Given the description of an element on the screen output the (x, y) to click on. 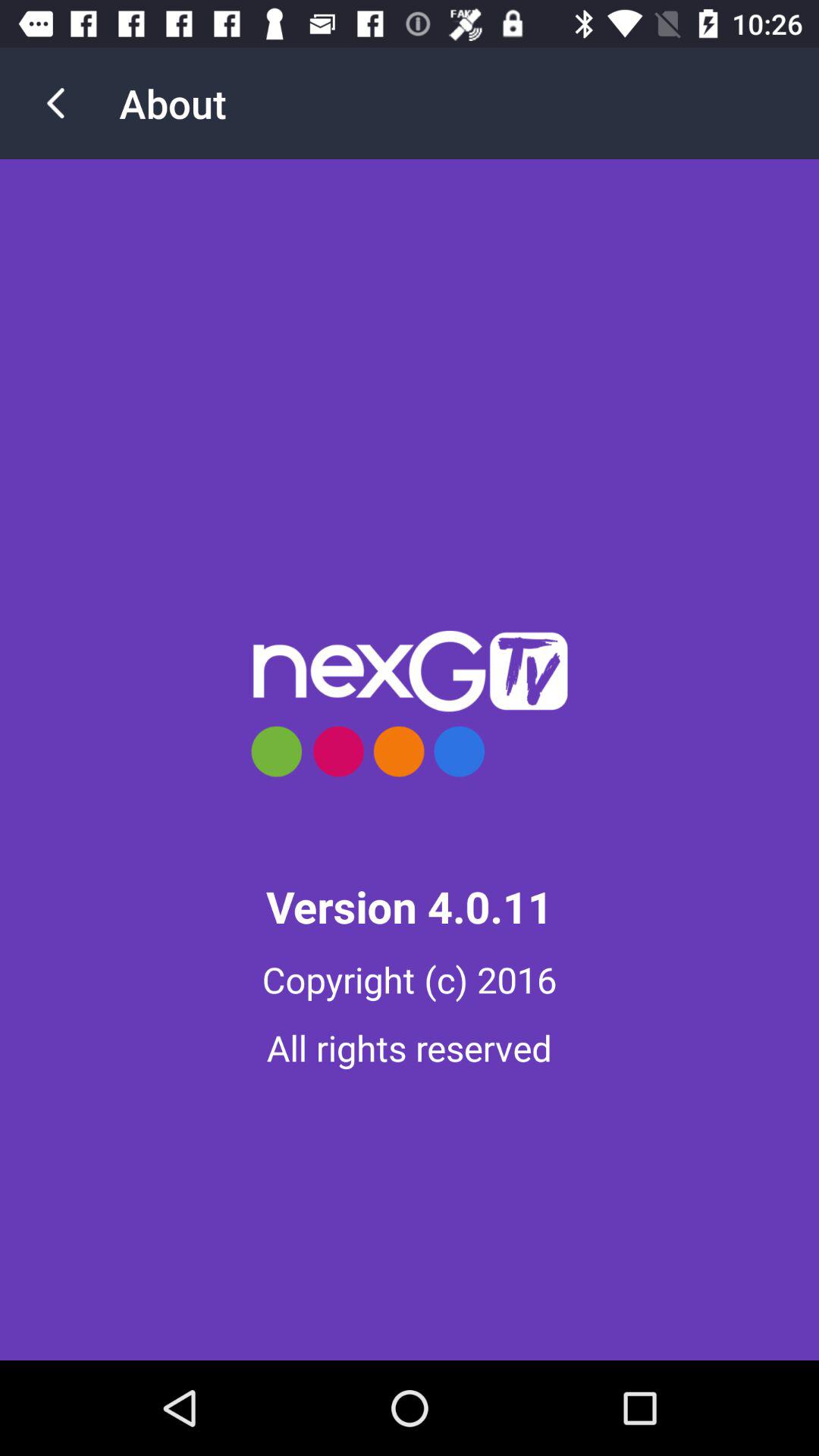
go back (55, 103)
